Given the description of an element on the screen output the (x, y) to click on. 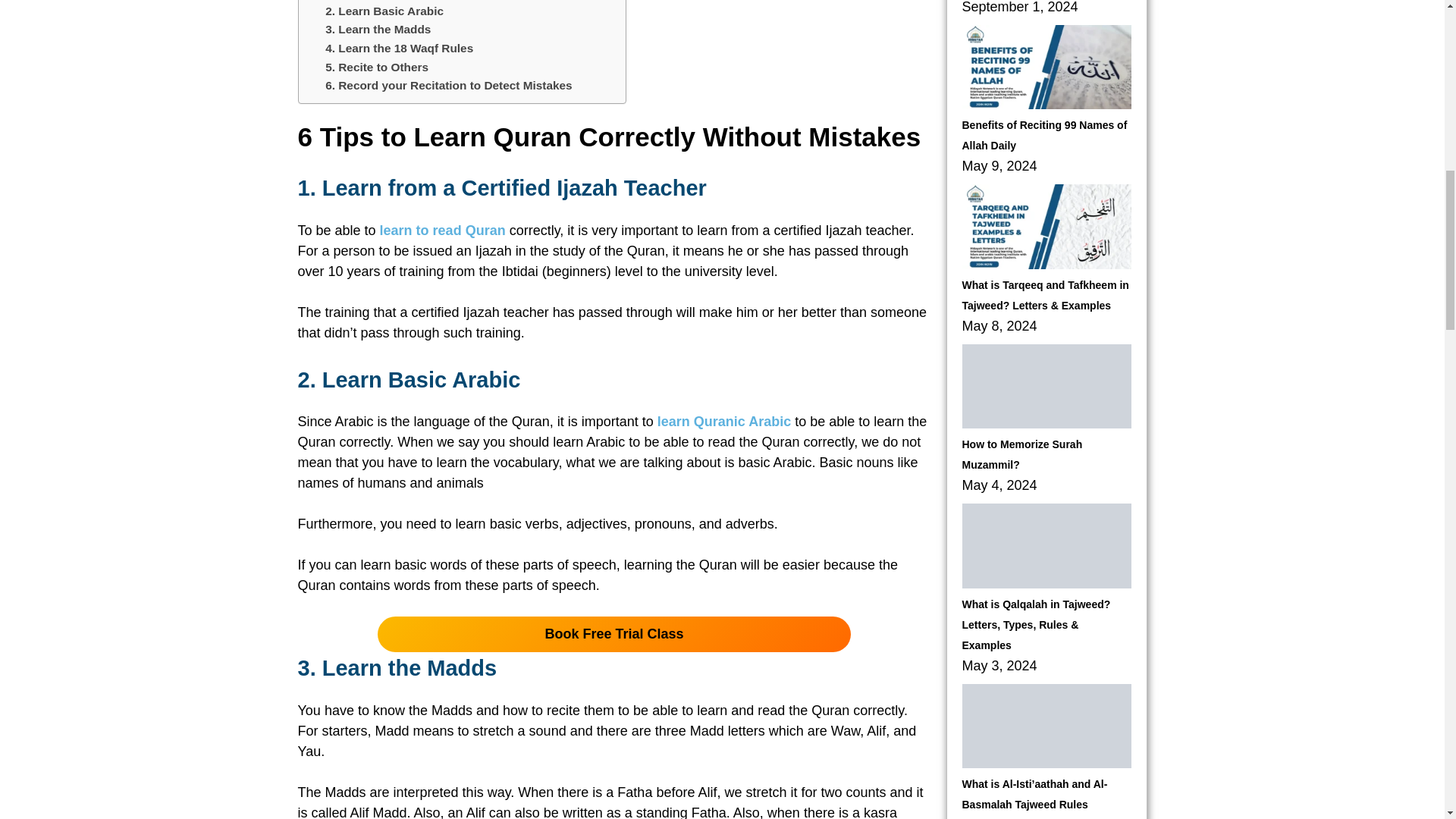
5. Recite to Others (376, 67)
3. Learn the Madds (377, 28)
6. Record your Recitation to Detect Mistakes (448, 85)
2. Learn Basic Arabic (384, 10)
